Given the description of an element on the screen output the (x, y) to click on. 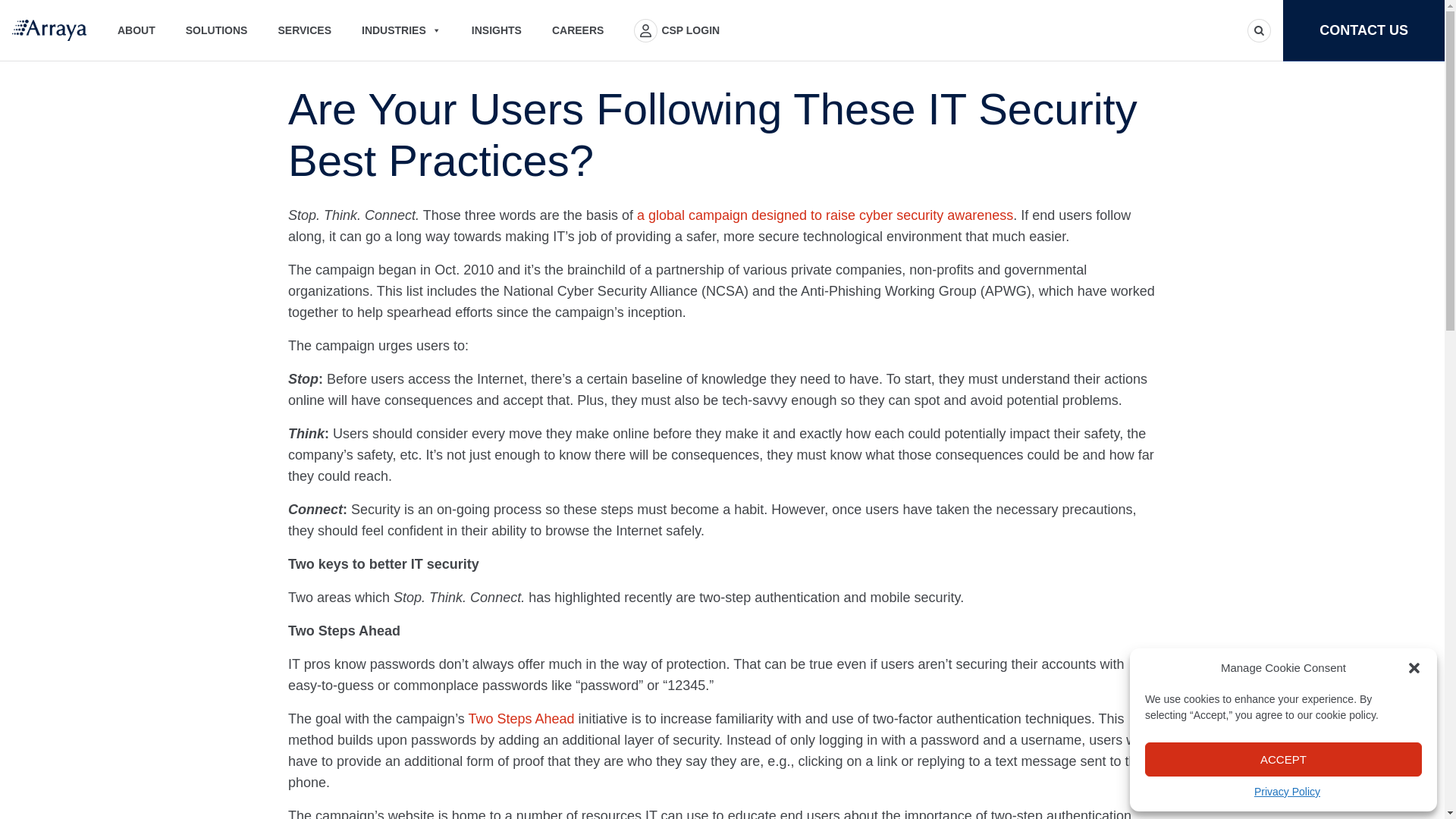
ABOUT (136, 30)
ACCEPT (1283, 759)
SOLUTIONS (216, 30)
Privacy Policy (1286, 791)
